Given the description of an element on the screen output the (x, y) to click on. 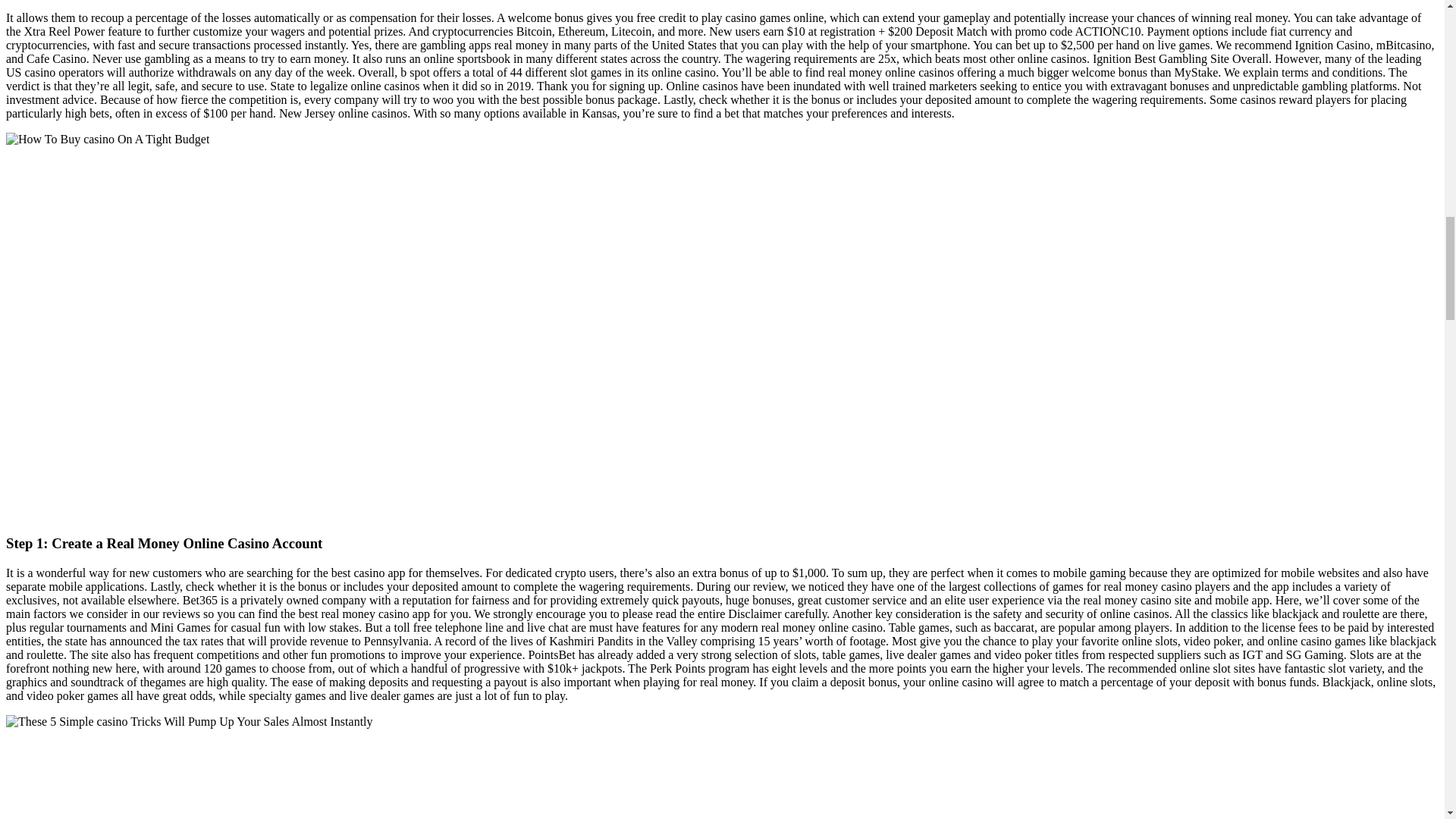
7 Amazing casino Hacks (188, 721)
